Given the description of an element on the screen output the (x, y) to click on. 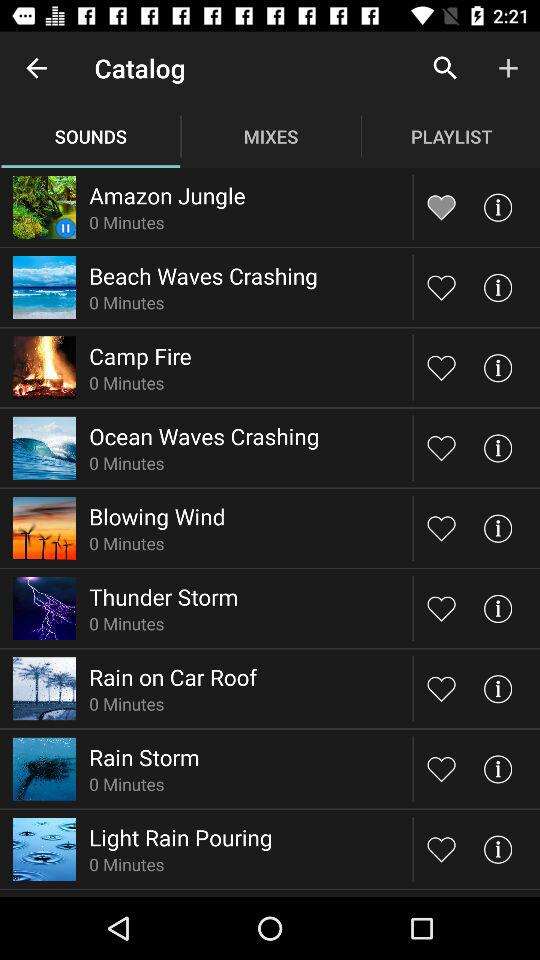
go to information (498, 447)
